Given the description of an element on the screen output the (x, y) to click on. 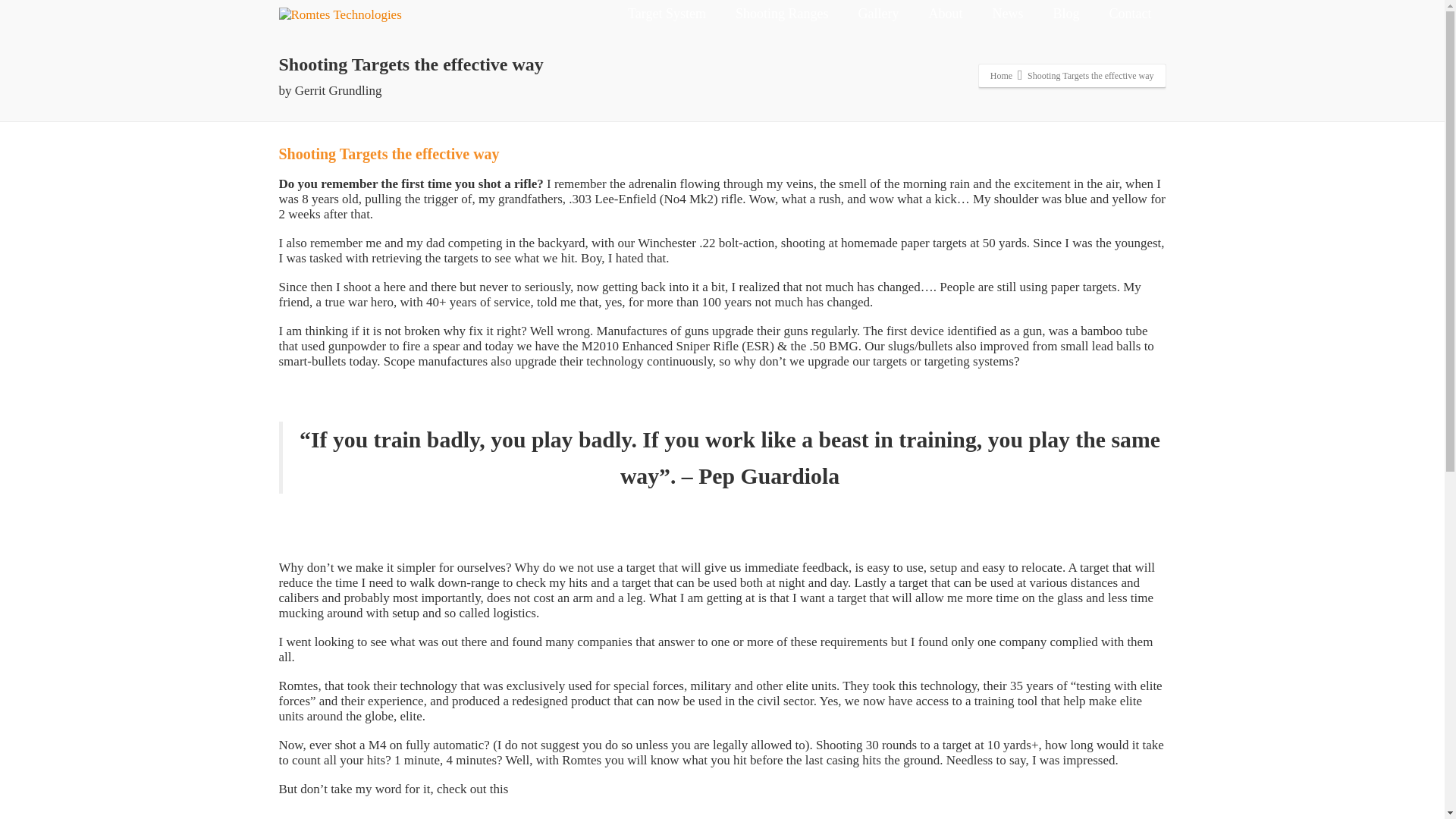
Shooting Ranges (781, 18)
using full auto on Romtes electronic targets (672, 814)
Gallery (877, 18)
Blog (1065, 18)
About (945, 18)
Target System (666, 18)
News (1006, 18)
Contact (1130, 18)
Home (1000, 75)
